Given the description of an element on the screen output the (x, y) to click on. 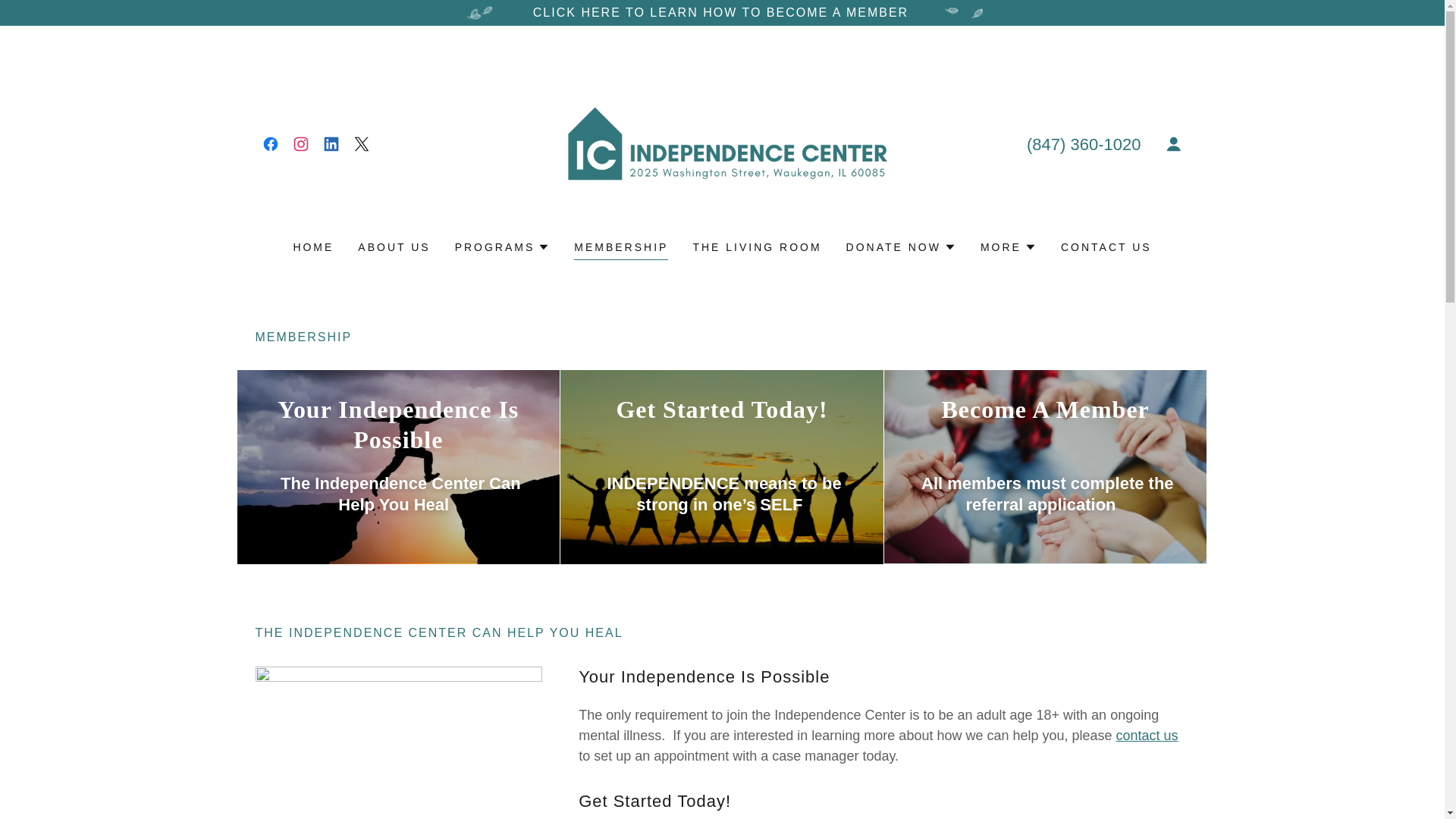
PROGRAMS (502, 247)
THE LIVING ROOM (756, 247)
DONATE NOW (900, 247)
MEMBERSHIP (620, 249)
ABOUT US (393, 247)
HOME (312, 247)
CONTACT US (1106, 247)
MORE (1007, 247)
Independence Center (721, 142)
